Given the description of an element on the screen output the (x, y) to click on. 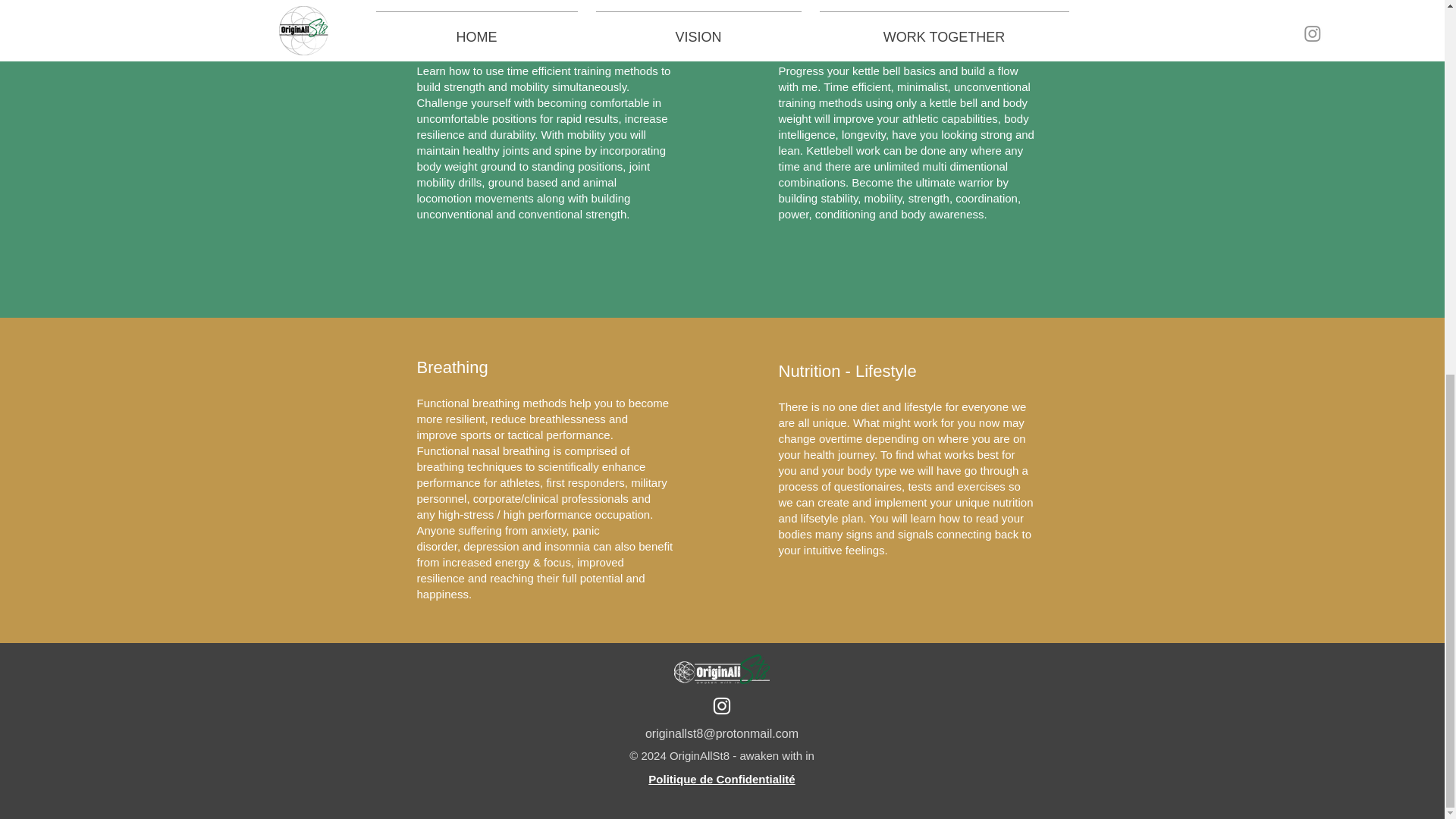
first responders, military personnel (541, 490)
sports (476, 434)
improved resilience (520, 570)
depression (490, 545)
tactical performance (559, 434)
enhance performance for athletes (531, 474)
anxiety, panic disorder (507, 538)
